Given the description of an element on the screen output the (x, y) to click on. 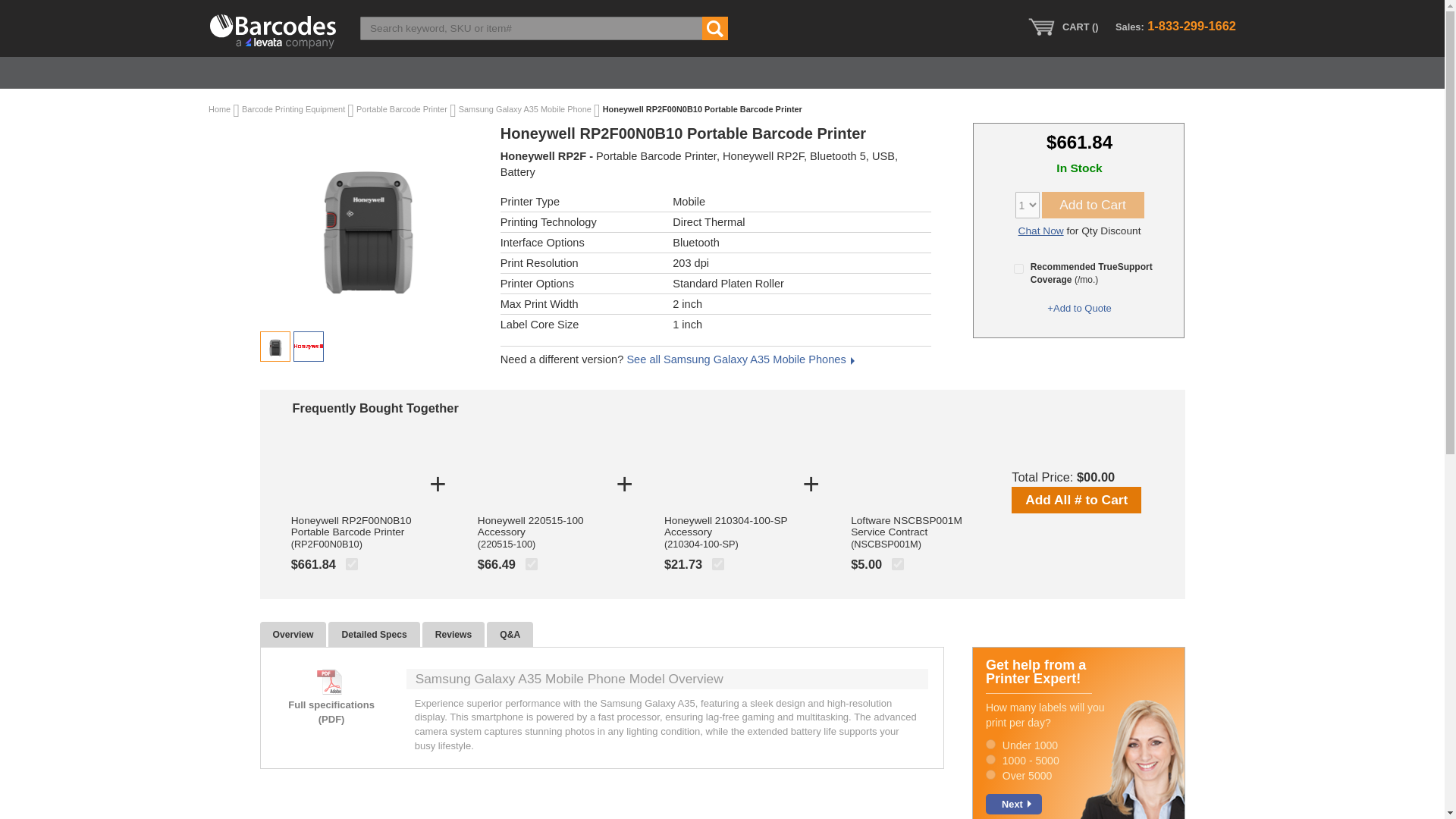
added (897, 563)
See all Samsung Galaxy A35 Mobile Phones   (738, 358)
Go to Home Page (220, 108)
Honeywell 220515-100 Accessory (539, 533)
Portable Barcode Printer (402, 108)
Barcode Printing Equipment (294, 108)
added (352, 563)
Over 5000 (990, 774)
1000 - 5000 (990, 759)
Search (714, 28)
